Given the description of an element on the screen output the (x, y) to click on. 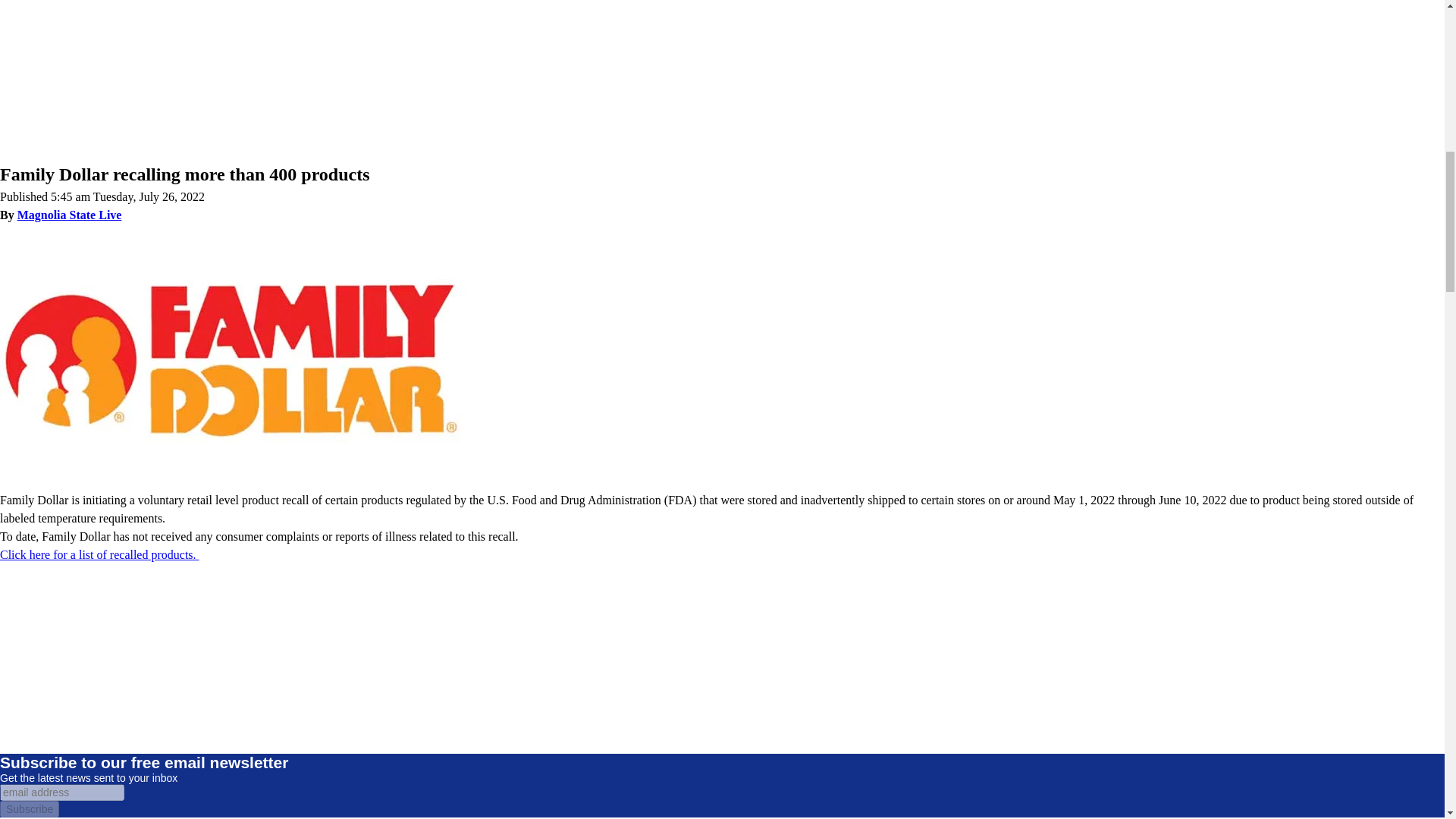
Magnolia State Live (69, 214)
Subscribe (29, 808)
Subscribe (29, 808)
Click here for a list of recalled products.  (99, 554)
